Given the description of an element on the screen output the (x, y) to click on. 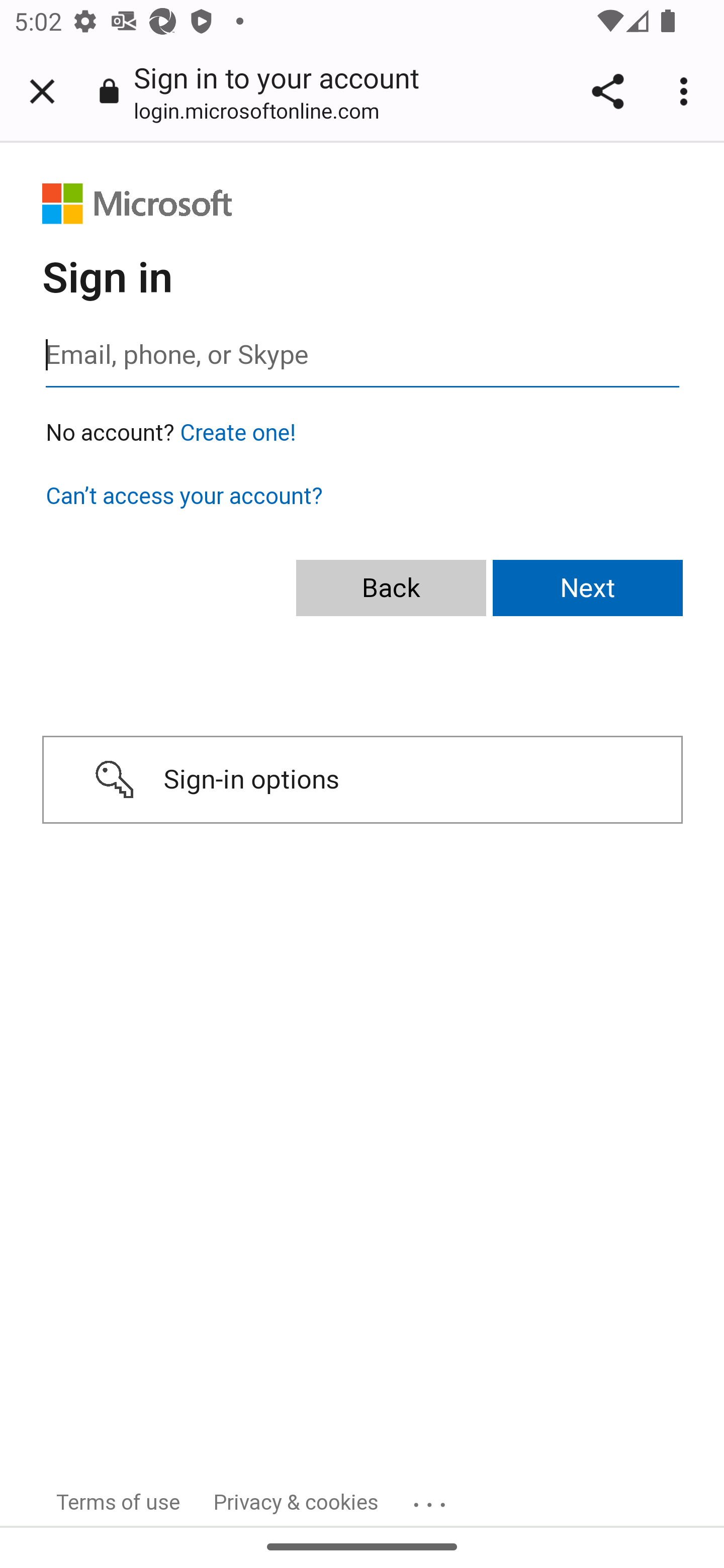
Close tab (42, 91)
Share (607, 91)
More options (687, 91)
Connection is secure (108, 90)
login.microsoftonline.com (263, 109)
Create a Microsoft account Create one! (237, 432)
Can’t access your account? (184, 495)
Back (391, 588)
Next (588, 588)
Sign-in options (361, 779)
Terms of use (118, 1502)
Privacy & cookies (296, 1502)
Click here for troubleshooting information (432, 1497)
